Given the description of an element on the screen output the (x, y) to click on. 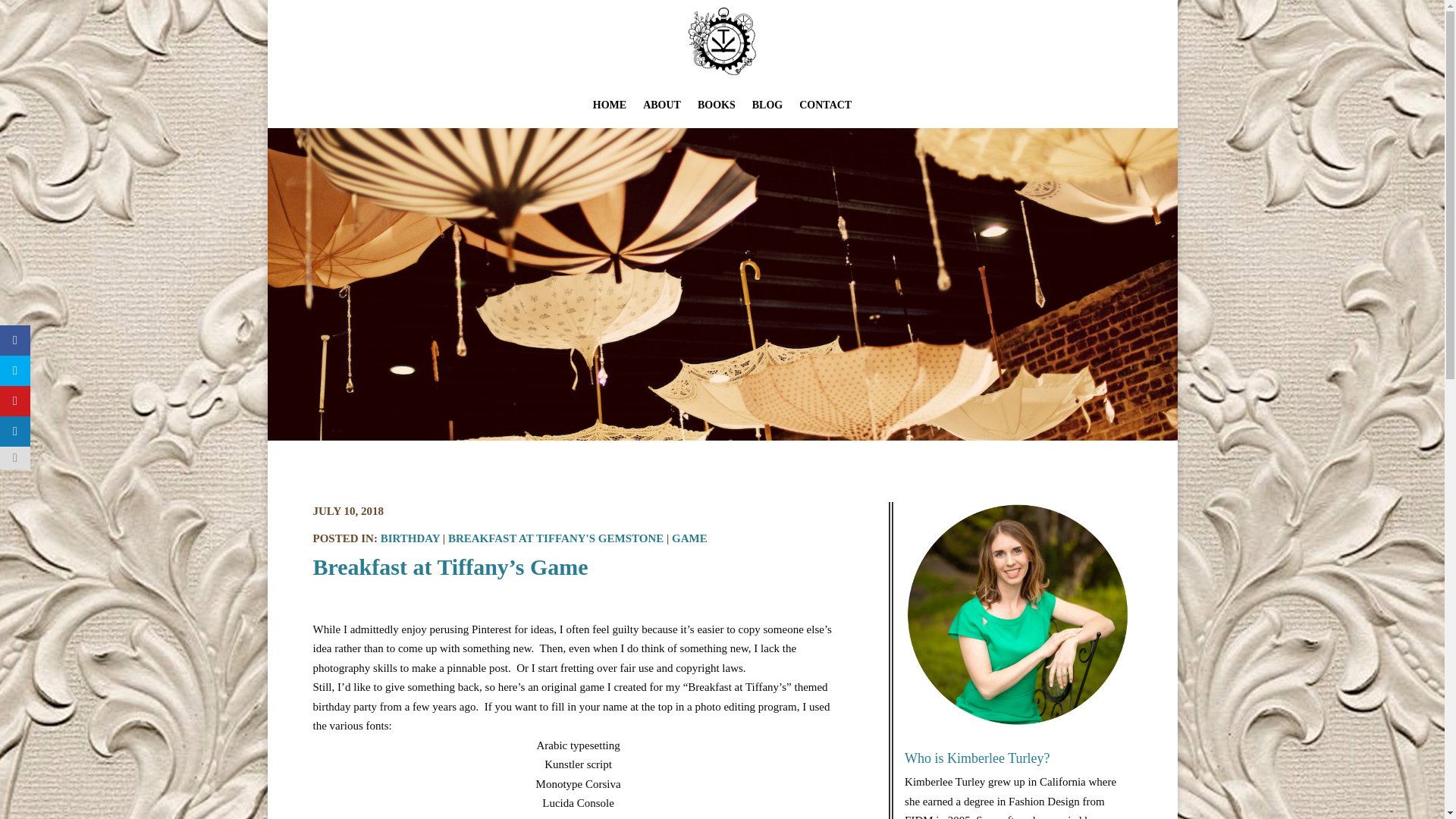
BREAKFAST AT TIFFANY'S GEMSTONE (555, 538)
CONTACT (825, 108)
BIRTHDAY (409, 538)
BLOG (767, 108)
BOOKS (716, 108)
ABOUT (662, 108)
GAME (689, 538)
HOME (609, 108)
Who is Kimberlee Turley? (976, 758)
